Given the description of an element on the screen output the (x, y) to click on. 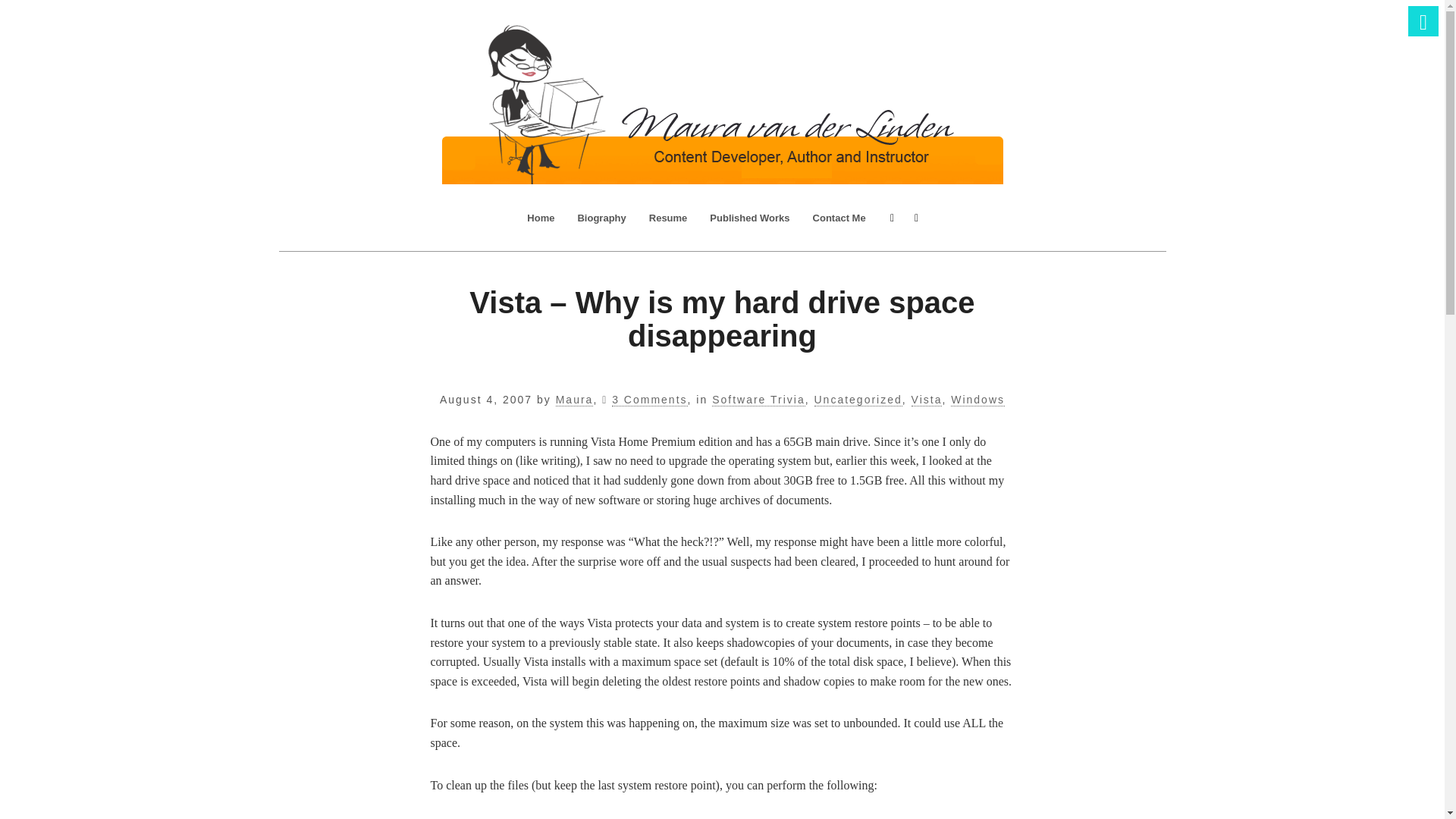
Windows (977, 400)
21:30:50 (485, 399)
Vista (926, 400)
Home (540, 217)
Maura (575, 400)
3 Comments (649, 400)
Biography (601, 217)
Facebook (892, 218)
Resume (667, 217)
Contact Me (839, 217)
